Given the description of an element on the screen output the (x, y) to click on. 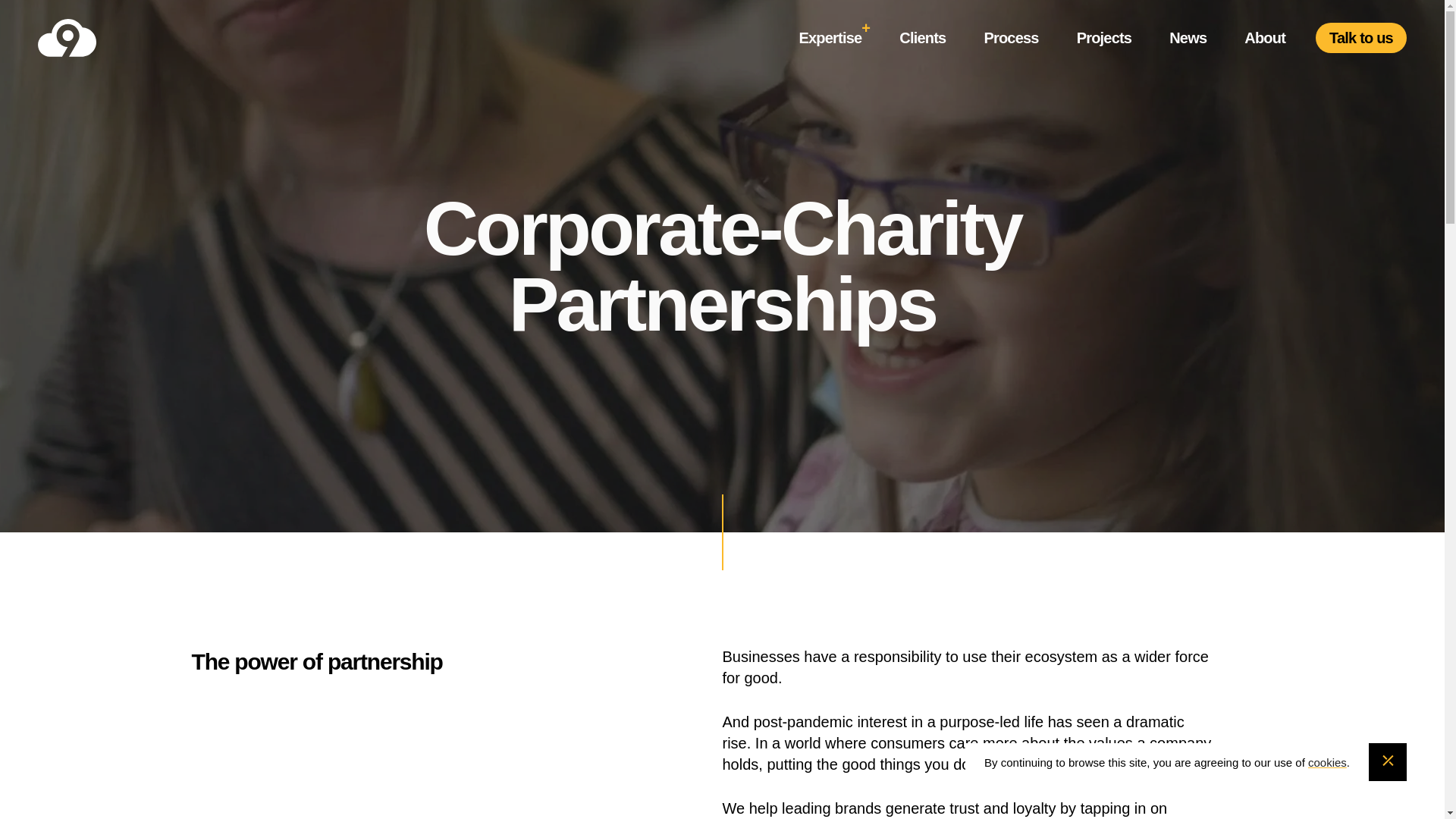
News (1187, 37)
Expertise (829, 37)
About (1264, 37)
Cloud9Media (107, 37)
Process (1010, 37)
Projects (1104, 37)
Clients (921, 37)
Talk to us (1361, 37)
Talk to us (1361, 37)
